Given the description of an element on the screen output the (x, y) to click on. 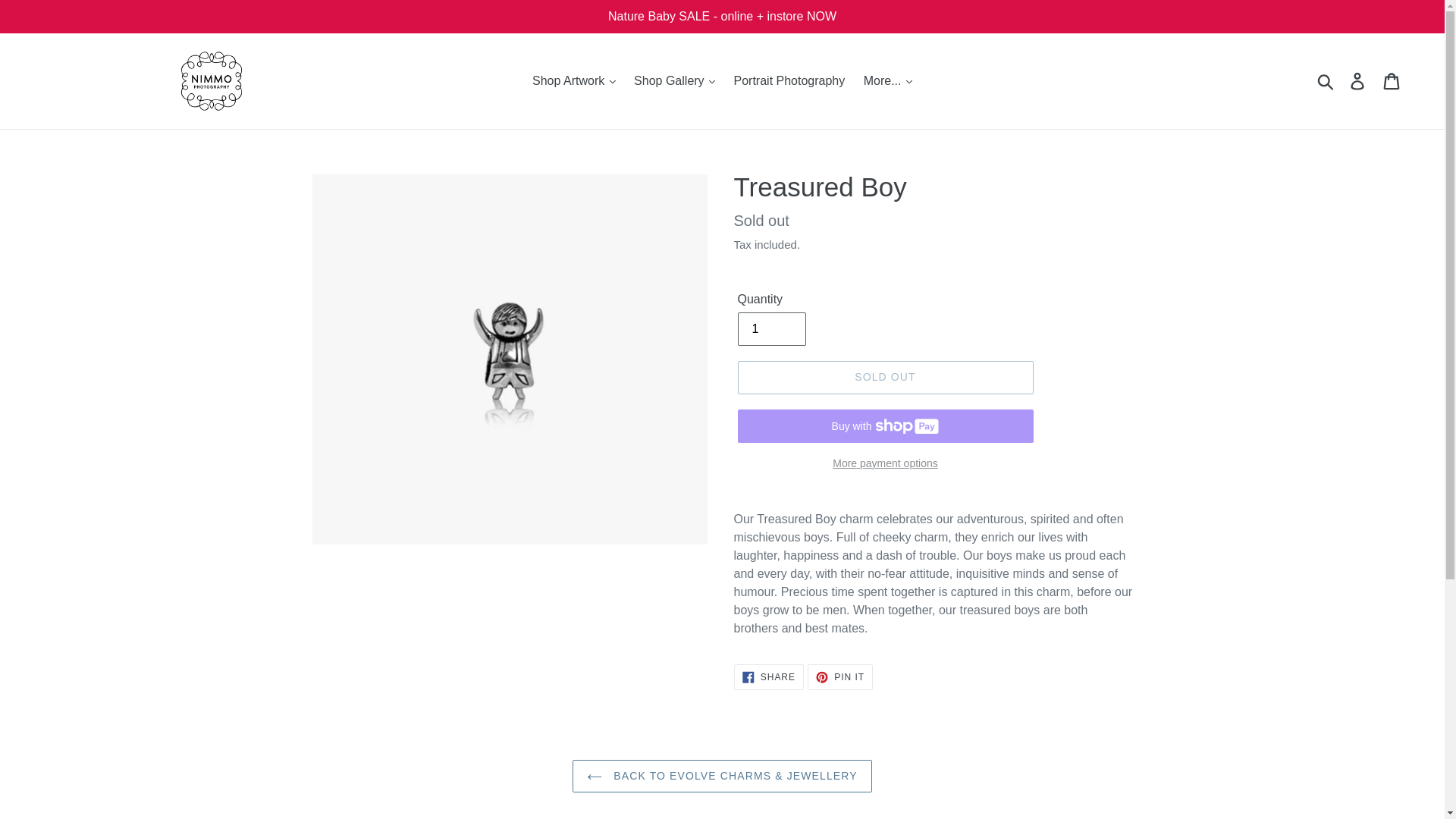
Log in (1357, 80)
Portrait Photography (789, 80)
Submit (1326, 80)
1 (770, 328)
Cart (1392, 80)
